Given the description of an element on the screen output the (x, y) to click on. 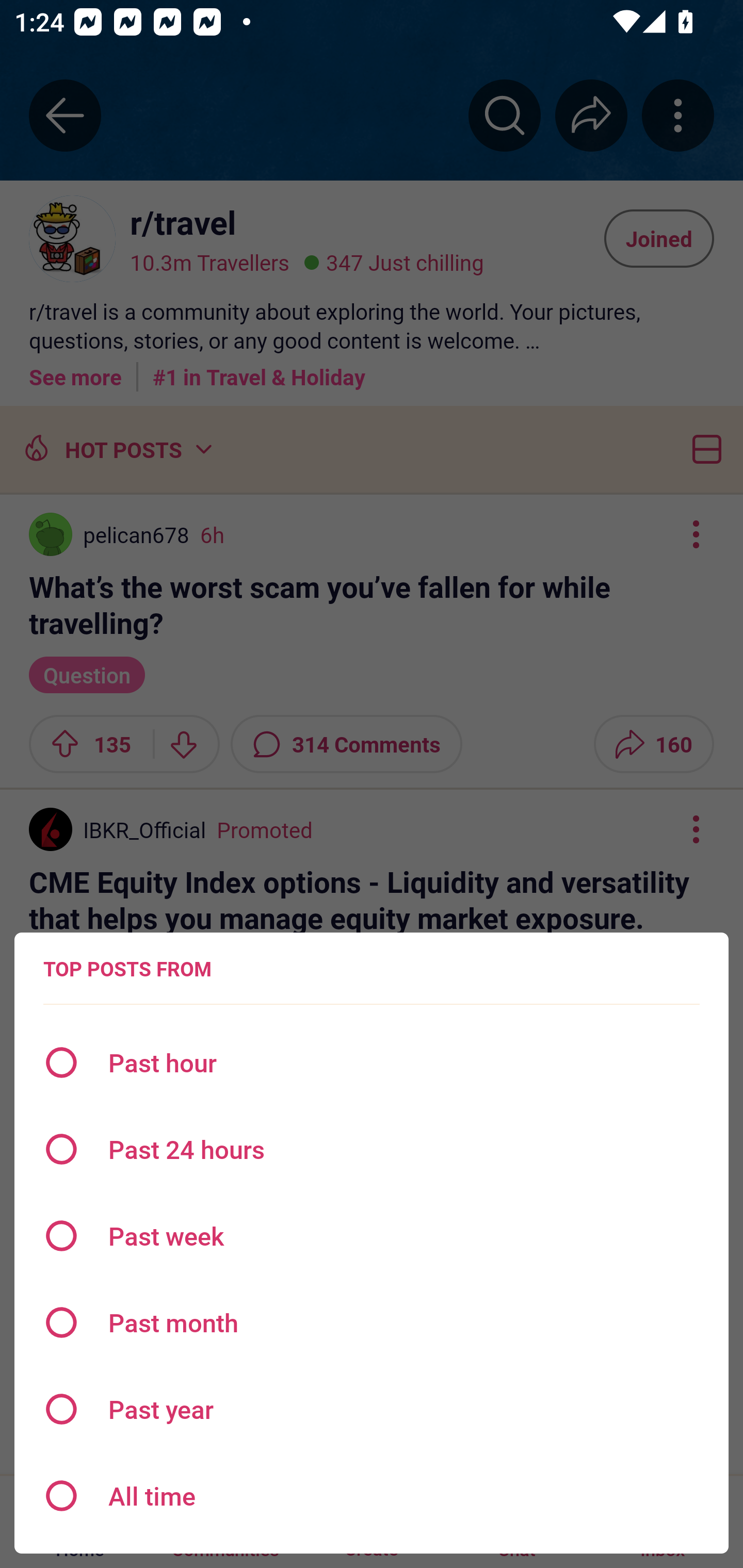
TOP POSTS FROM (127, 968)
Past hour (371, 1062)
Past 24 hours (371, 1149)
Past week (371, 1236)
Past month (371, 1322)
Past year (371, 1408)
All time (371, 1495)
